Given the description of an element on the screen output the (x, y) to click on. 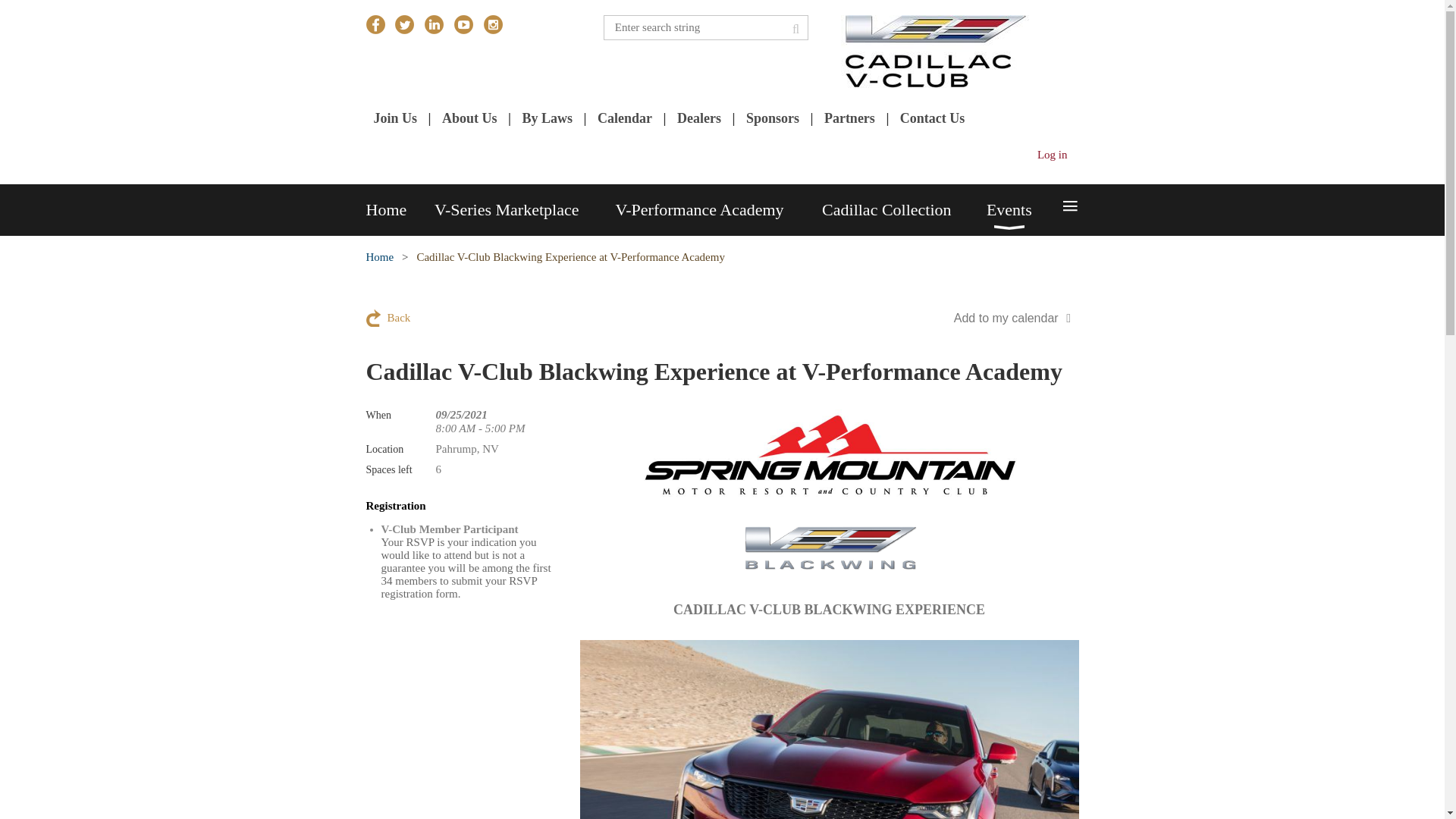
LinkedIn (434, 24)
Sponsors (772, 118)
Partners (849, 118)
By Laws (546, 118)
Cadillac Collection (904, 209)
Home (399, 209)
By Laws (546, 118)
Twitter (403, 24)
Calendar (624, 118)
Facebook (374, 24)
